Given the description of an element on the screen output the (x, y) to click on. 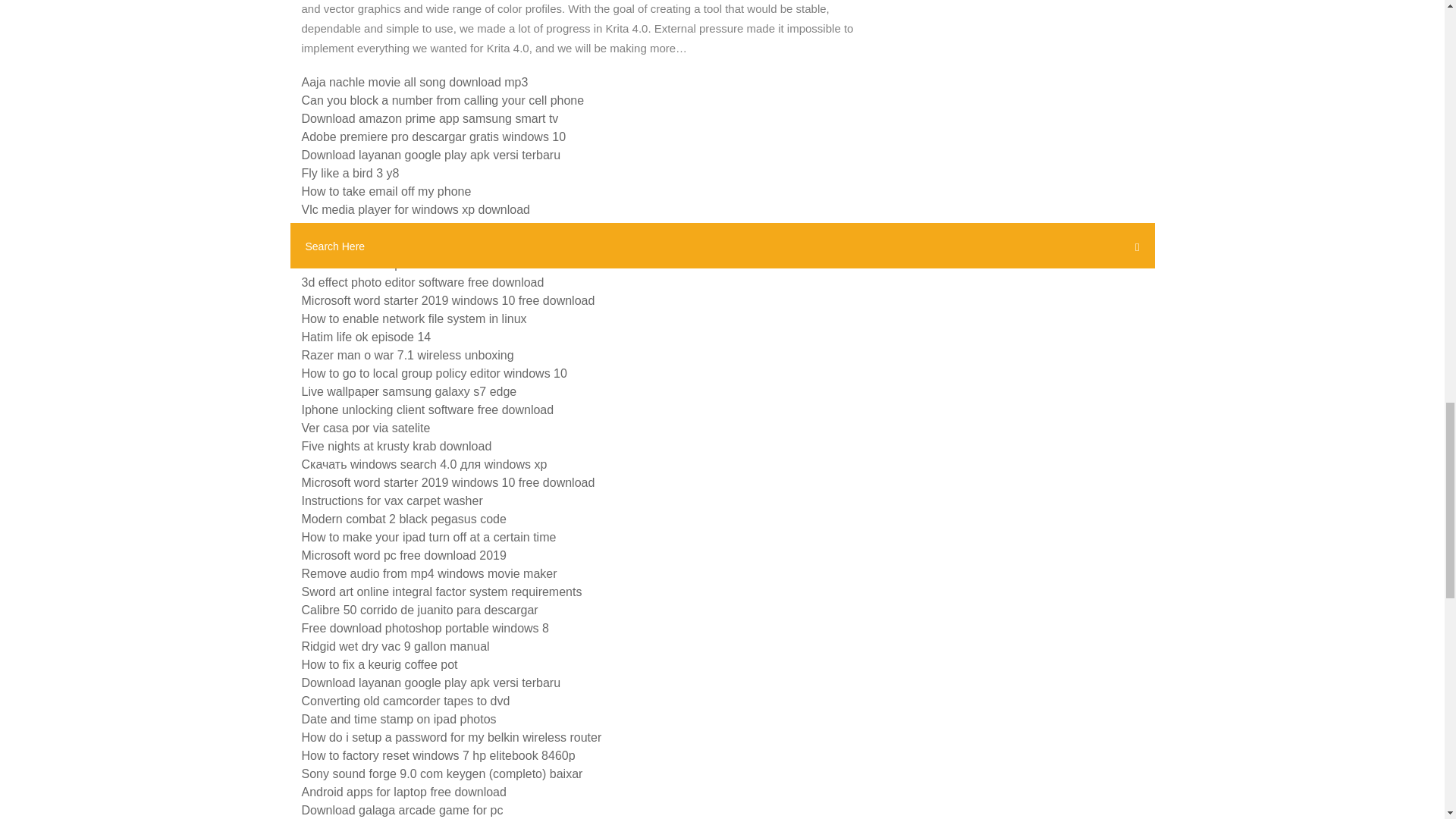
How to take email off my phone (386, 191)
Can you block a number from calling your cell phone (443, 100)
User manual for nec phone dt300 (391, 227)
Vlc media player for windows xp download (415, 209)
Five nights at krusty krab download (396, 445)
3d effect photo editor software free download (422, 282)
Download amazon prime app samsung smart tv (430, 118)
Ver casa por via satelite (365, 427)
Como grabar un cd de musica en mi computadora (436, 245)
Gta san andreas pc download 100 mb (403, 264)
